Given the description of an element on the screen output the (x, y) to click on. 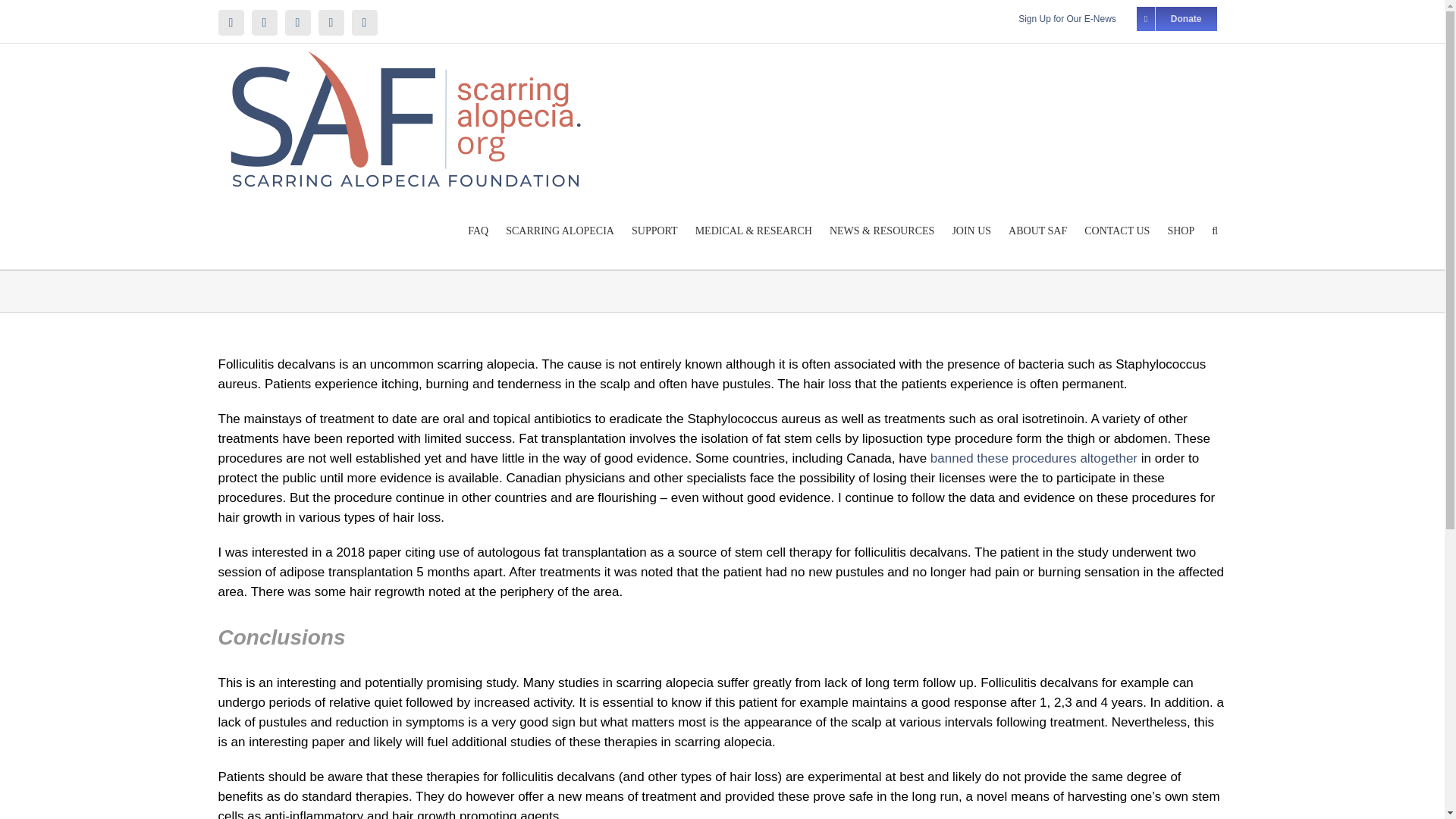
Donate (1176, 18)
YouTube (231, 22)
SCARRING ALOPECIA (560, 231)
Instagram (330, 22)
X (364, 22)
LinkedIn (298, 22)
Search (1215, 231)
JOIN US (971, 231)
Sign Up for Our E-News (1067, 18)
SUPPORT (654, 231)
Facebook (264, 22)
FAQ (478, 231)
